Given the description of an element on the screen output the (x, y) to click on. 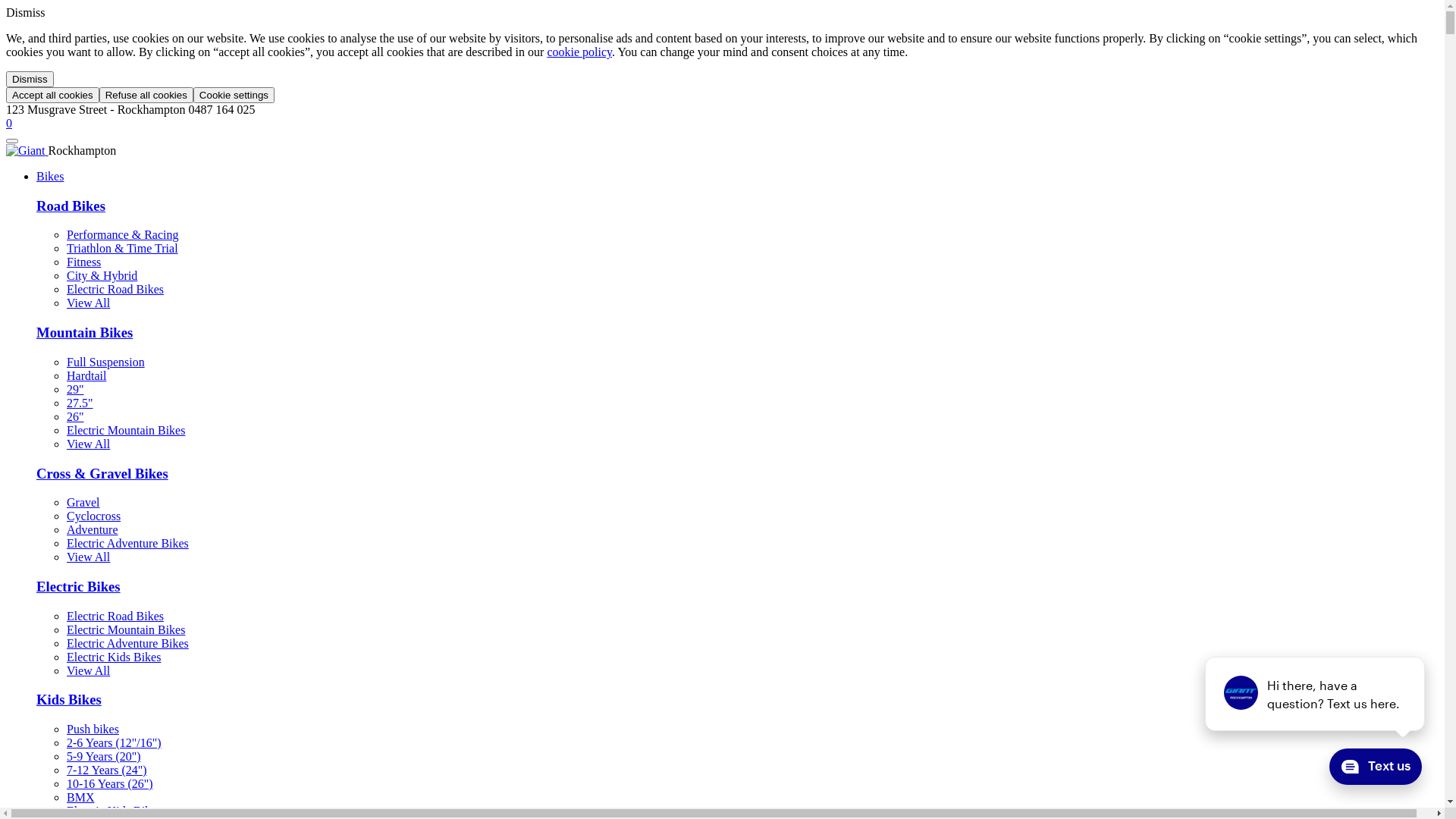
Hardtail Element type: text (86, 375)
29" Element type: text (75, 388)
Cookie settings Element type: text (233, 95)
Electric Road Bikes Element type: text (114, 288)
5-9 Years (20") Element type: text (103, 755)
Kids Bikes Element type: text (68, 699)
Electric Road Bikes Element type: text (114, 615)
Refuse all cookies Element type: text (146, 95)
Mountain Bikes Element type: text (84, 332)
Adventure Element type: text (92, 529)
Electric Kids Bikes Element type: text (113, 656)
Electric Mountain Bikes Element type: text (125, 629)
Push bikes Element type: text (92, 728)
Triathlon & Time Trial Element type: text (122, 247)
Full Suspension Element type: text (105, 361)
Accept all cookies Element type: text (52, 95)
BMX Element type: text (80, 796)
Dismiss Element type: text (29, 79)
Electric Kids Bikes Element type: text (113, 810)
Electric Bikes Element type: text (78, 586)
Bikes Element type: text (49, 175)
podium webchat widget bubble Element type: hover (1368, 769)
Electric Adventure Bikes Element type: text (127, 542)
Road Bikes Element type: text (70, 205)
0 Element type: text (9, 122)
7-12 Years (24") Element type: text (106, 769)
podium webchat widget prompt Element type: hover (1315, 693)
View All Element type: text (87, 556)
View All Element type: text (87, 670)
26" Element type: text (75, 416)
27.5" Element type: text (79, 402)
10-16 Years (26") Element type: text (109, 783)
Electric Mountain Bikes Element type: text (125, 429)
View All Element type: text (87, 443)
Cyclocross Element type: text (93, 515)
2-6 Years (12"/16") Element type: text (113, 742)
Gravel Element type: text (83, 501)
Cross & Gravel Bikes Element type: text (102, 473)
Performance & Racing Element type: text (122, 234)
City & Hybrid Element type: text (101, 275)
Electric Adventure Bikes Element type: text (127, 643)
cookie policy Element type: text (578, 51)
Fitness Element type: text (83, 261)
View All Element type: text (87, 302)
